Given the description of an element on the screen output the (x, y) to click on. 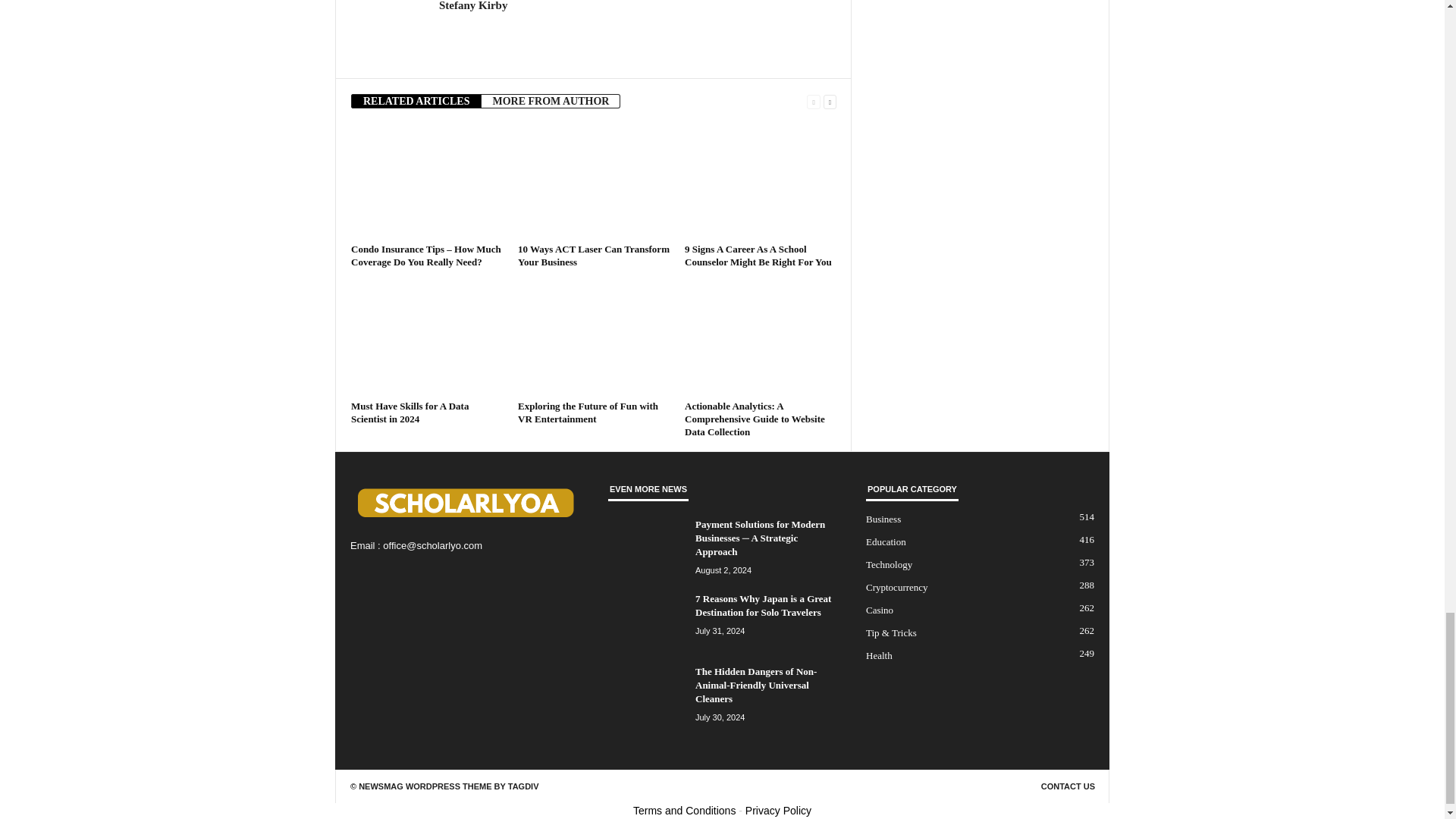
10 Ways ACT Laser Can Transform Your Business (593, 255)
10 Ways ACT Laser Can Transform Your Business (593, 181)
